Given the description of an element on the screen output the (x, y) to click on. 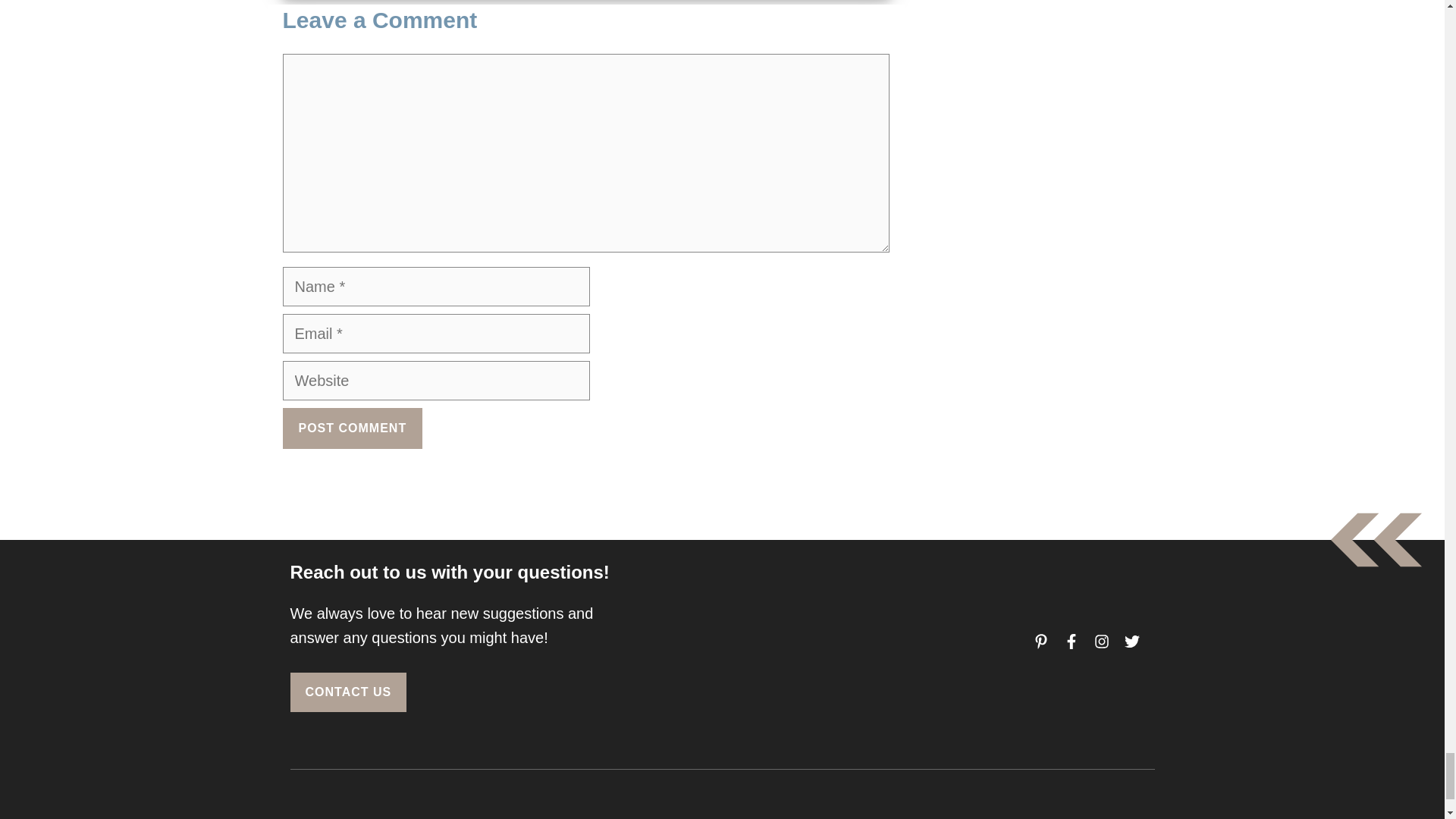
Post Comment (352, 427)
